Given the description of an element on the screen output the (x, y) to click on. 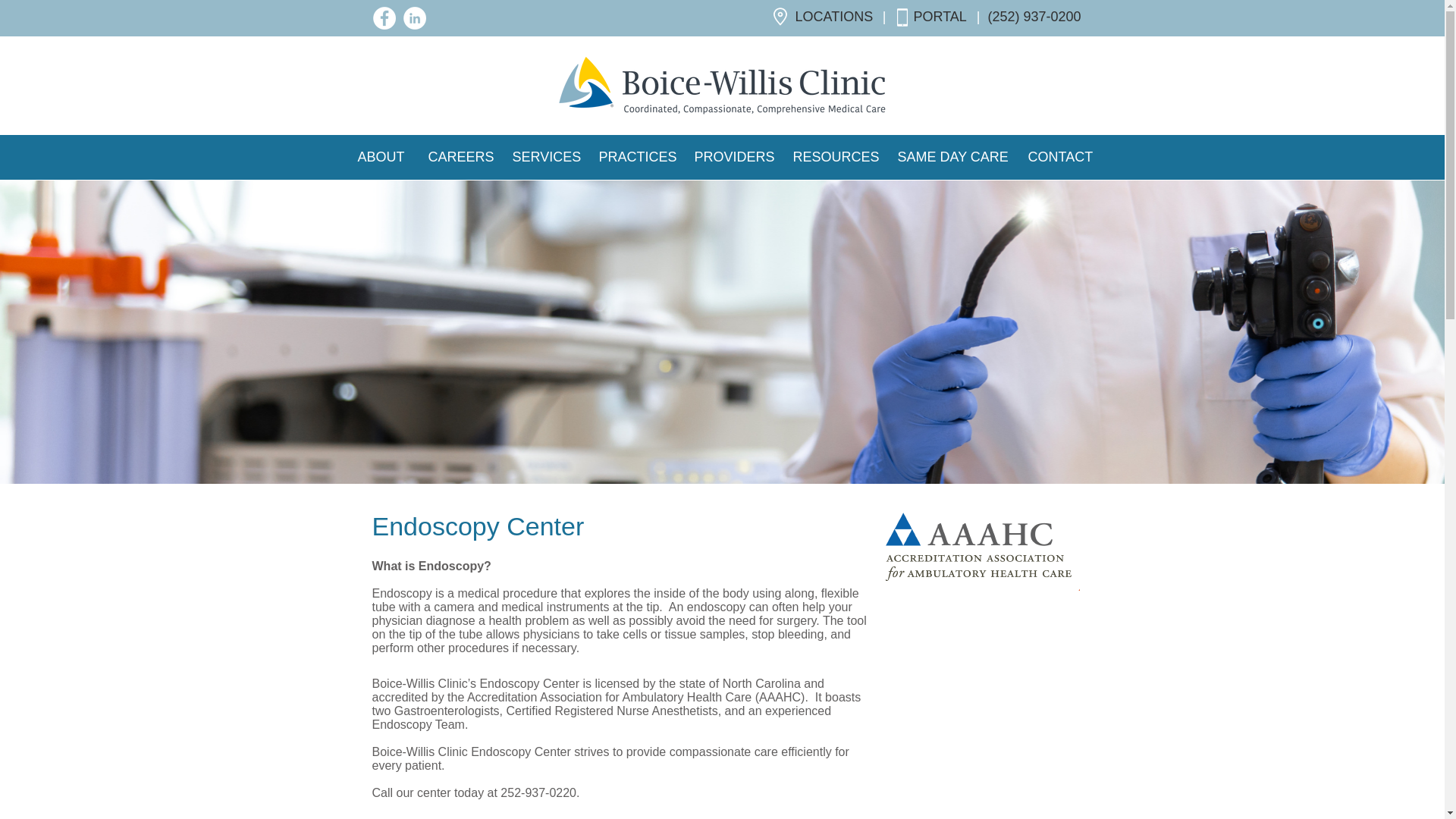
PORTAL (939, 16)
LOCATIONS (833, 16)
SAME DAY CARE (950, 156)
SERVICES (543, 156)
ABOUT (381, 156)
CAREERS (458, 156)
CONTACT (1059, 156)
PRACTICES (634, 156)
